Given the description of an element on the screen output the (x, y) to click on. 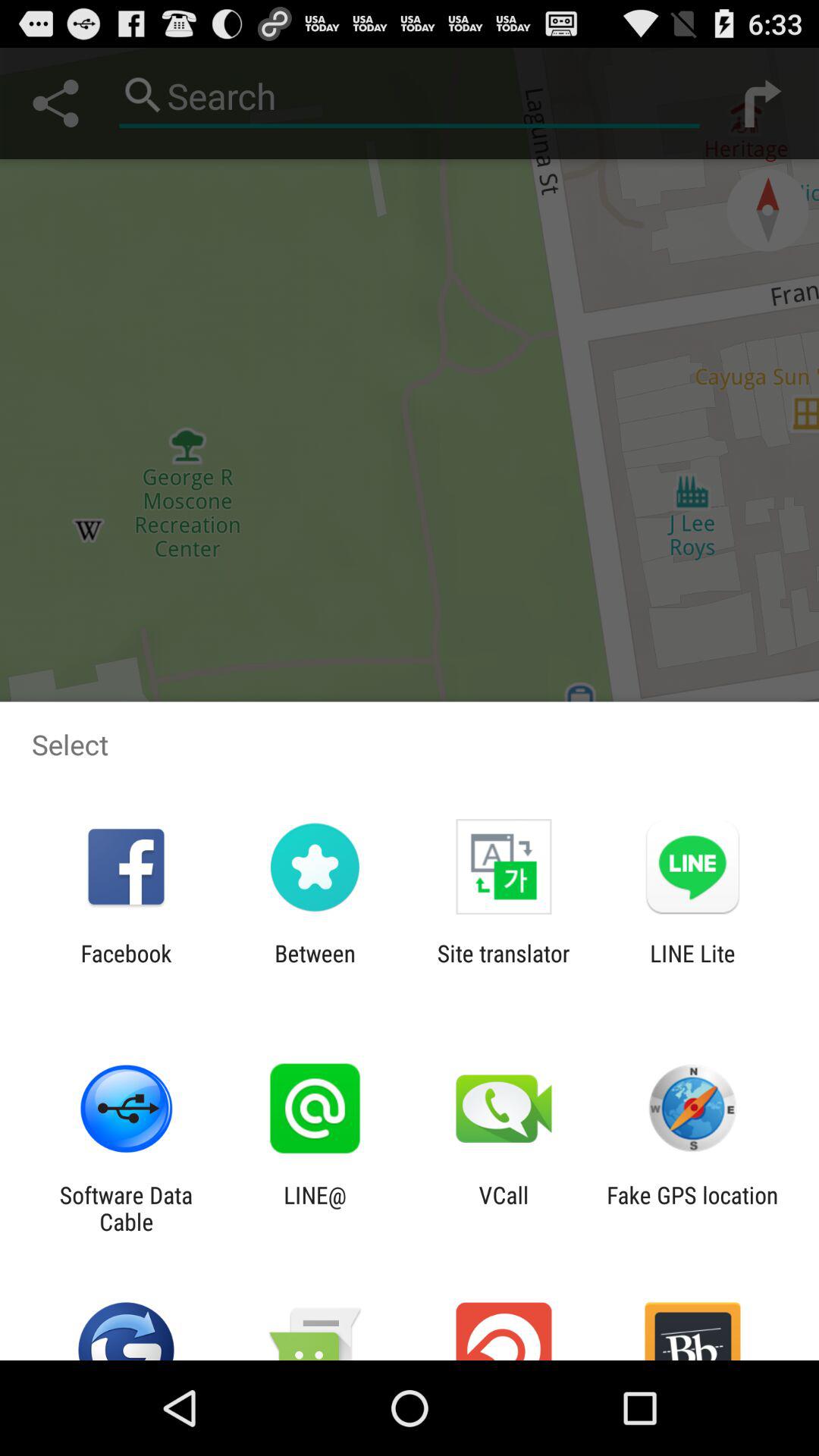
launch the item next to facebook item (314, 966)
